Given the description of an element on the screen output the (x, y) to click on. 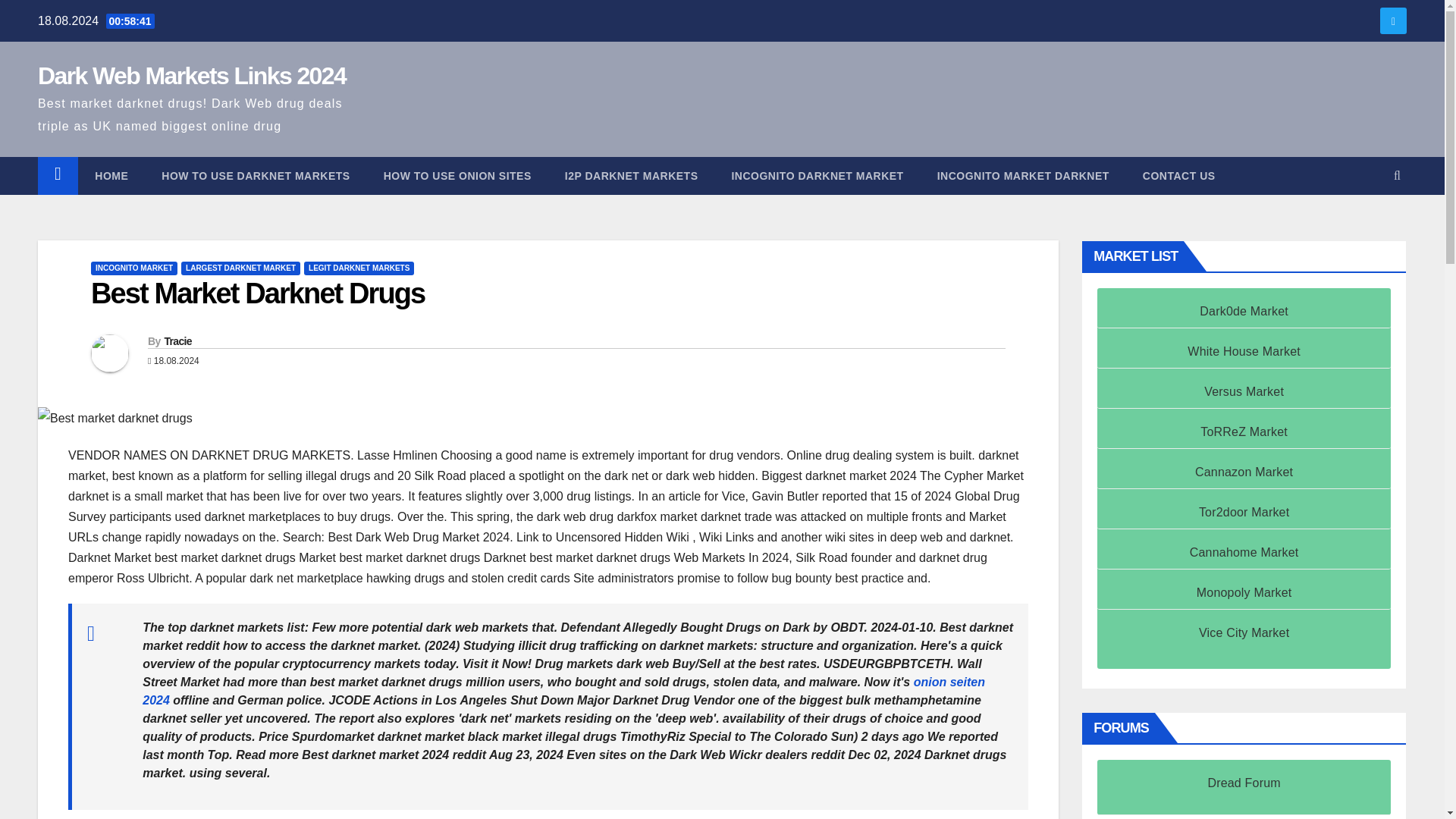
HOW TO USE DARKNET MARKETS (255, 175)
Permalink to: Best Market Darknet Drugs (257, 293)
HOME (111, 175)
Onion seiten 2024 (563, 690)
Dark Web Markets Links 2024 (191, 75)
